Given the description of an element on the screen output the (x, y) to click on. 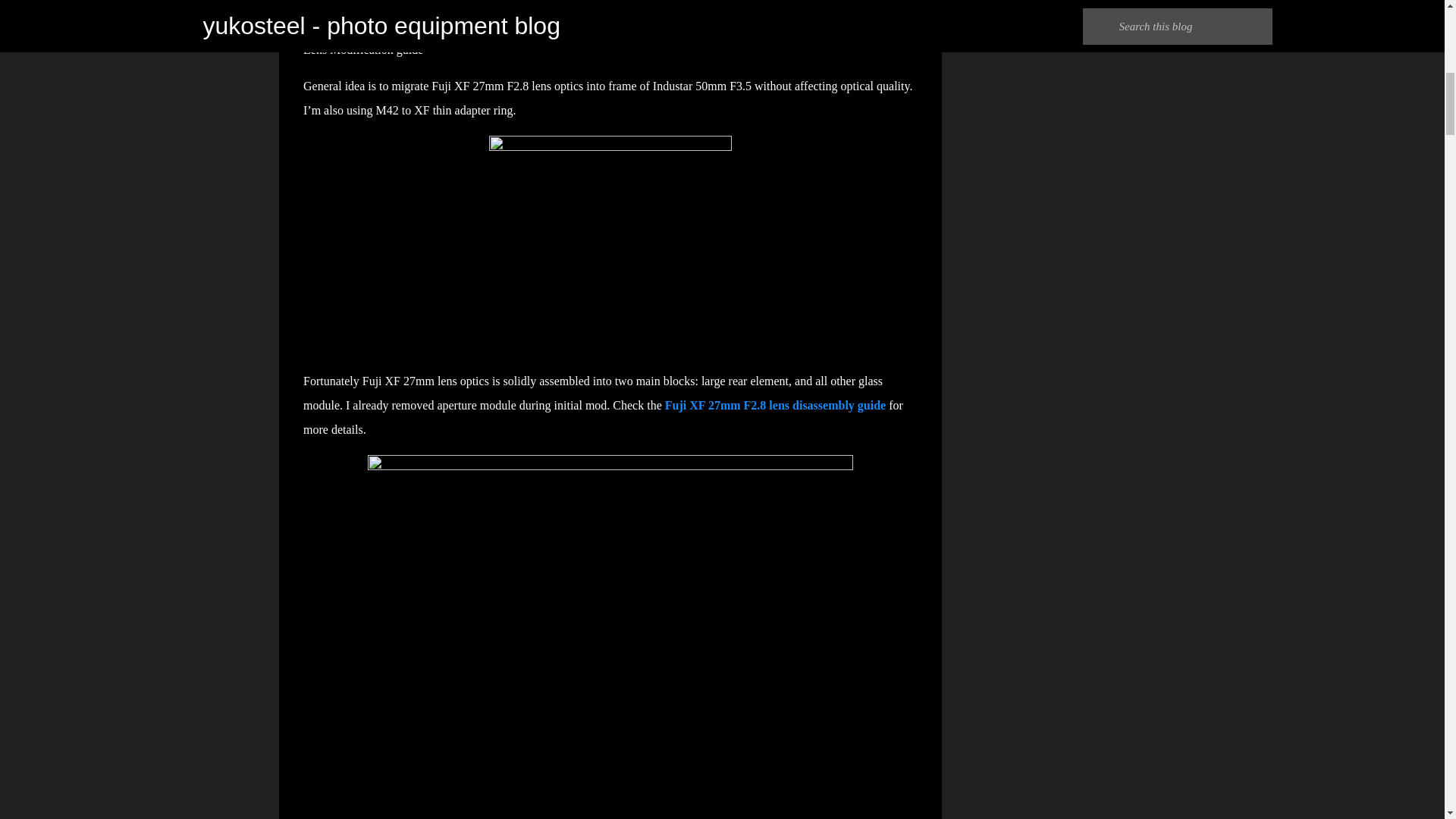
Fuji XF 27mm F2.8 lens disassembly guide (775, 404)
